Given the description of an element on the screen output the (x, y) to click on. 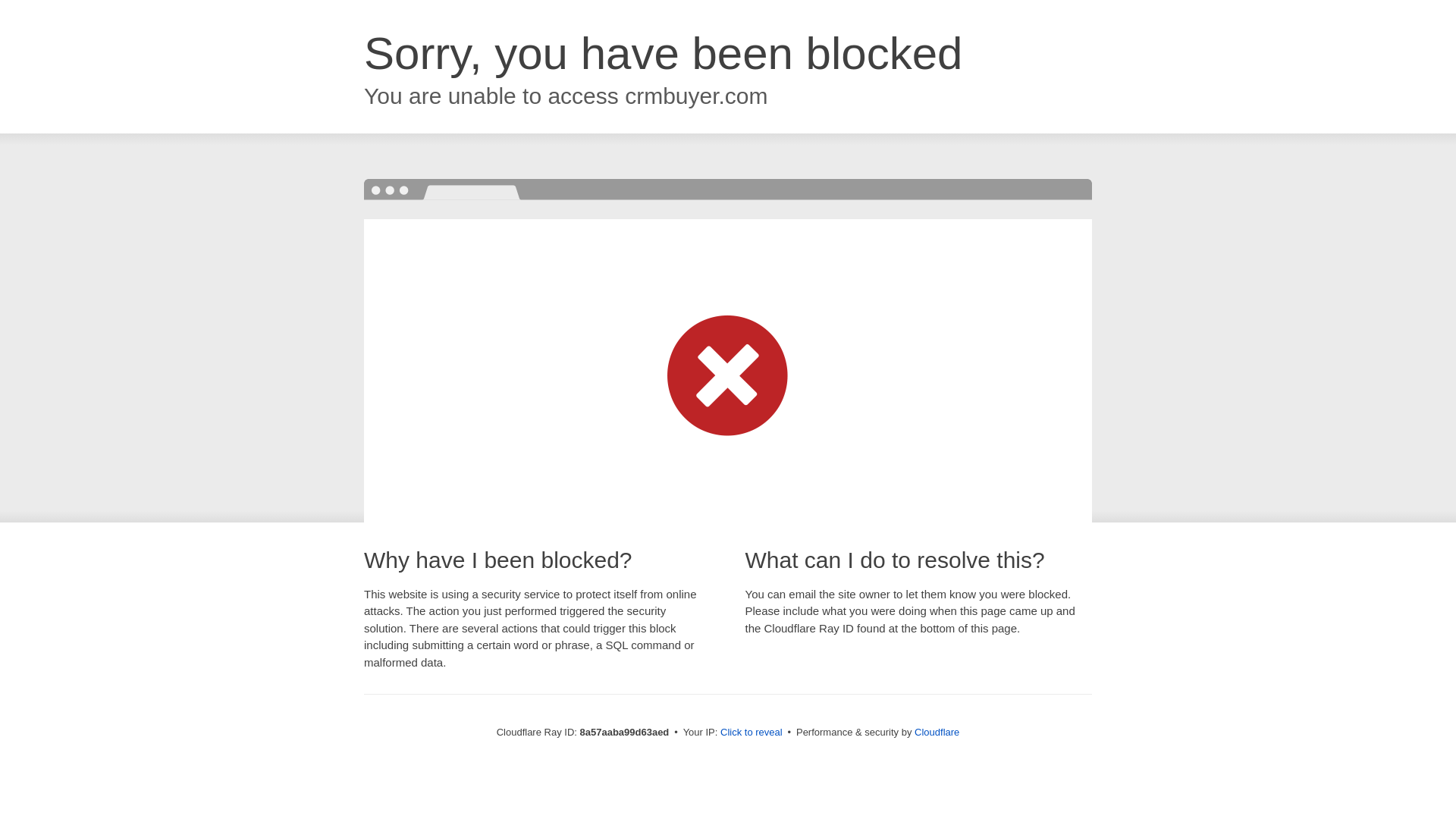
Cloudflare (936, 731)
Click to reveal (751, 732)
